Given the description of an element on the screen output the (x, y) to click on. 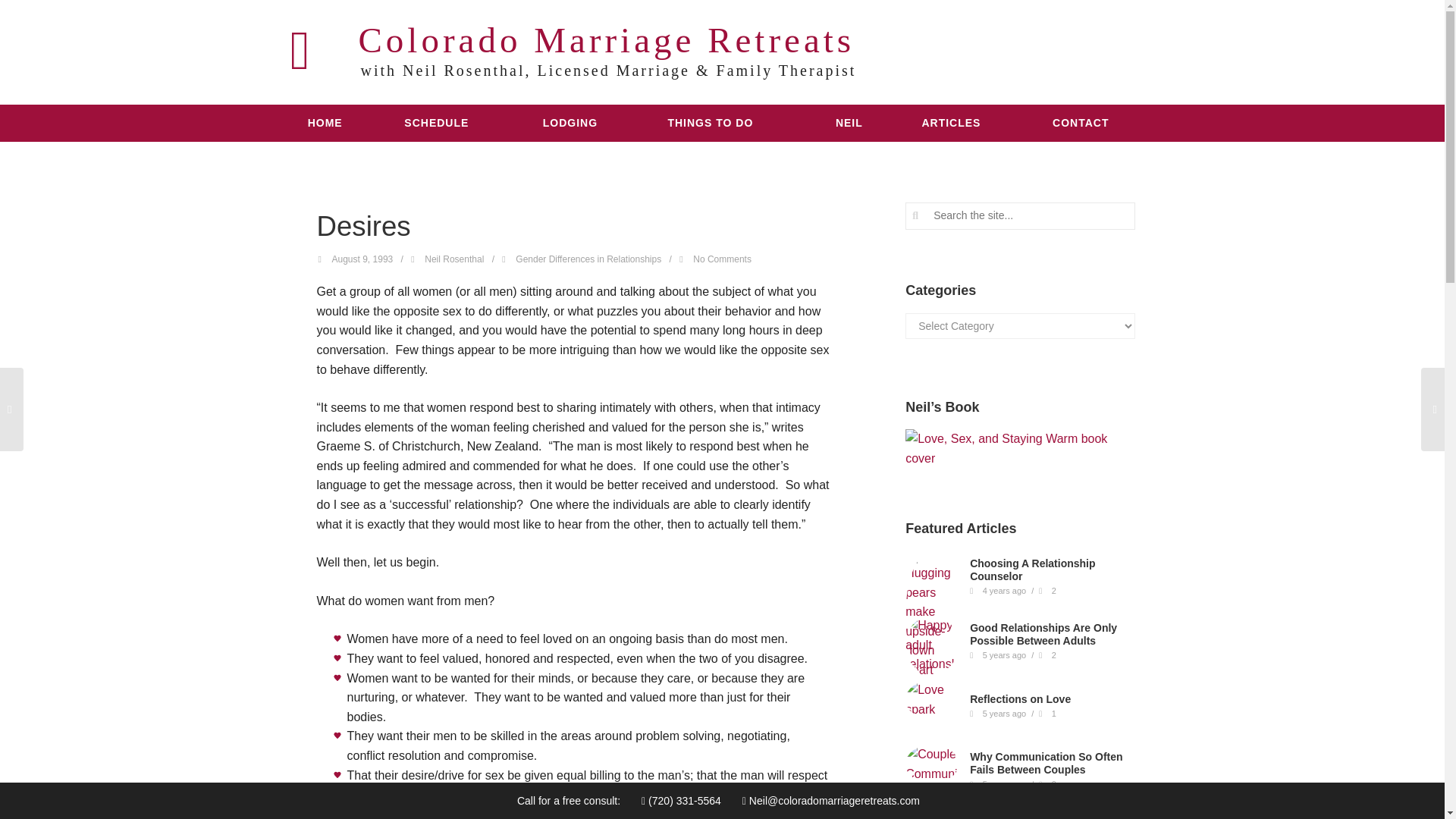
LODGING (583, 122)
ARTICLES (964, 122)
THINGS TO DO (729, 122)
HOME (335, 122)
SCHEDULE (451, 122)
Neil Rosenthal (454, 258)
View all posts by Neil Rosenthal (454, 258)
Gender Differences in Relationships (588, 258)
Colorado Marriage Retreats (572, 39)
Good Relationships Are Only Possible Between Adults (1042, 634)
